Given the description of an element on the screen output the (x, y) to click on. 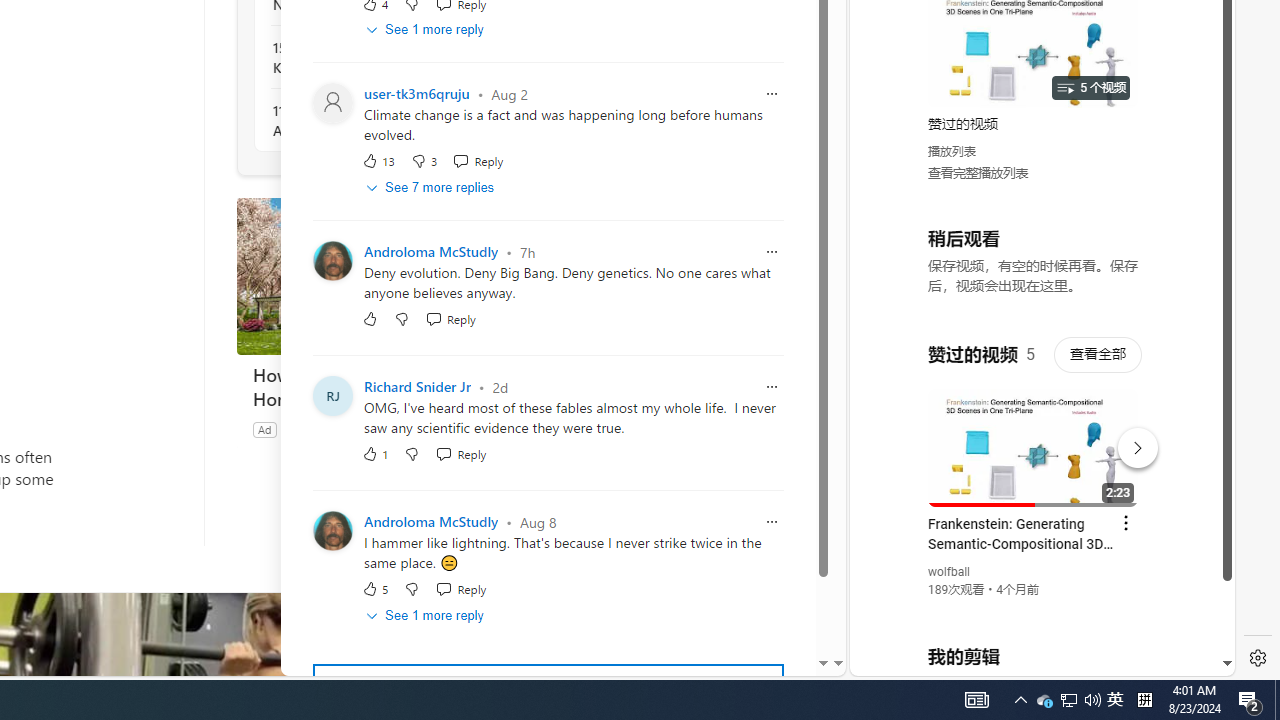
Click to scroll right (1196, 83)
Report comment (771, 522)
wolfball (949, 572)
Richard Snider Jr (417, 387)
YouTube (1034, 432)
11 U.S. Cities Where Home Prices Are Not Worth the Cost (381, 120)
13 Like (378, 161)
